Given the description of an element on the screen output the (x, y) to click on. 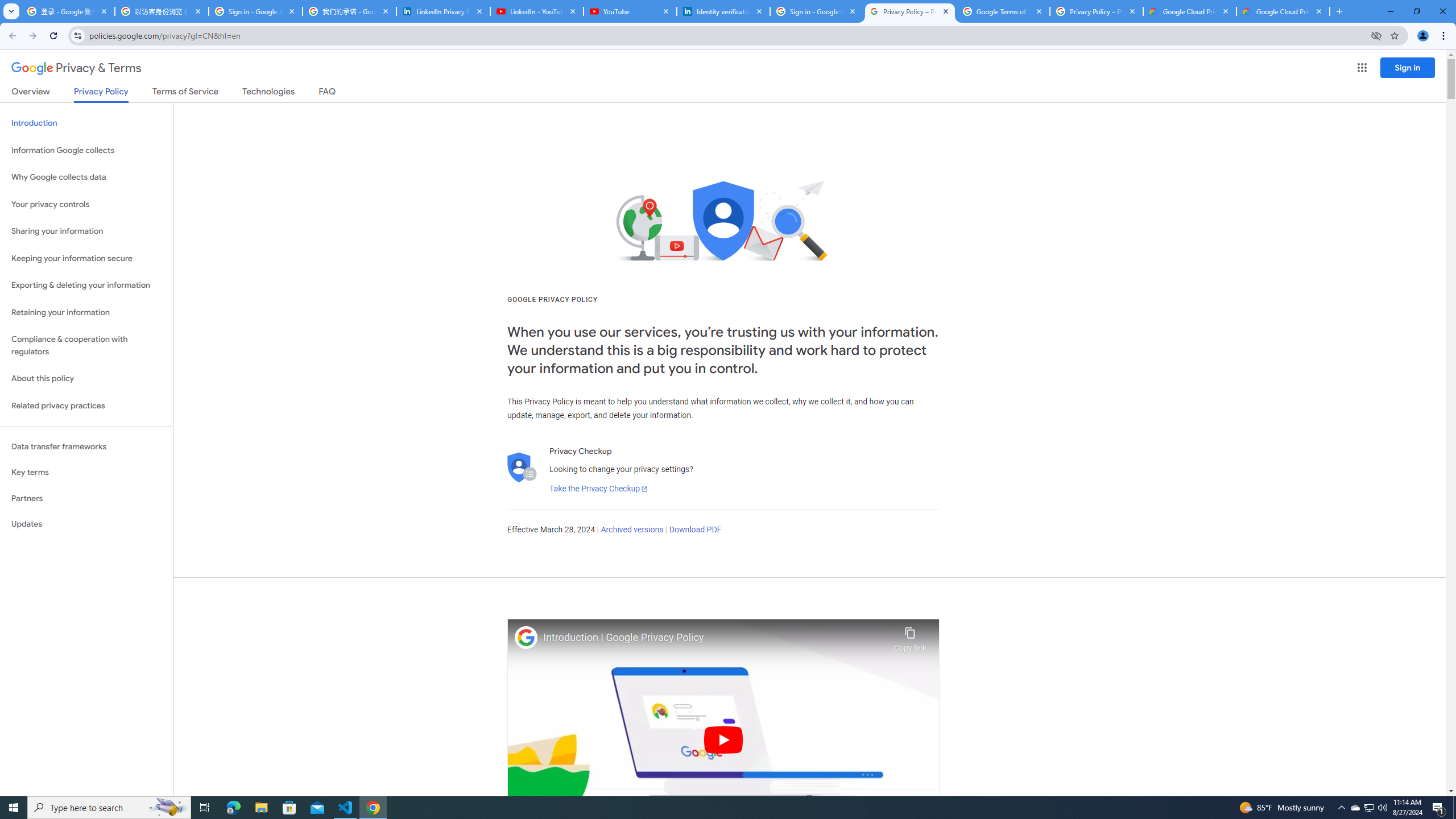
Exporting & deleting your information (86, 284)
Related privacy practices (86, 405)
Why Google collects data (86, 176)
Sign in - Google Accounts (815, 11)
Information Google collects (86, 150)
Sign in - Google Accounts (255, 11)
LinkedIn Privacy Policy (443, 11)
